Given the description of an element on the screen output the (x, y) to click on. 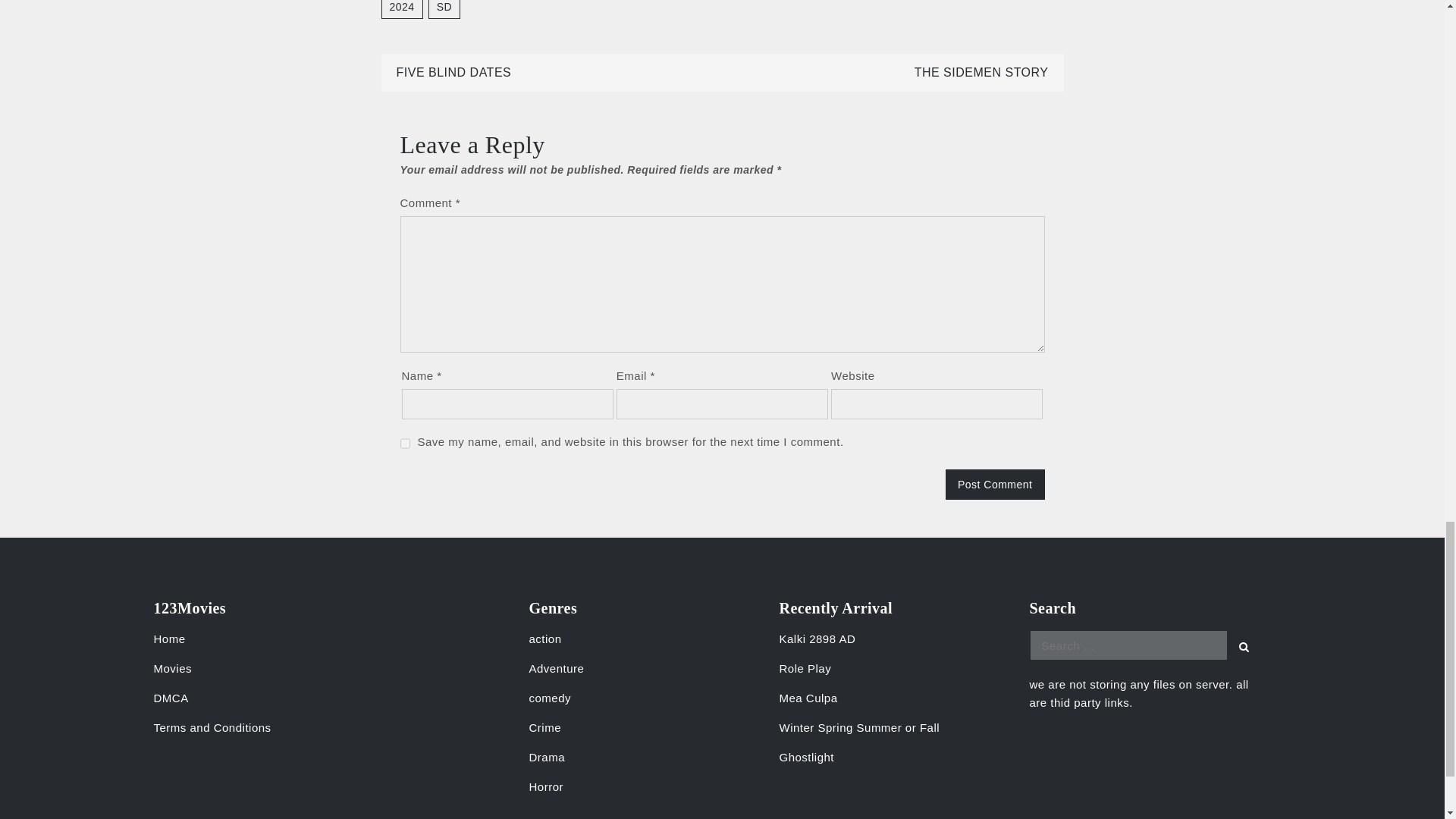
Post Comment (994, 484)
